Given the description of an element on the screen output the (x, y) to click on. 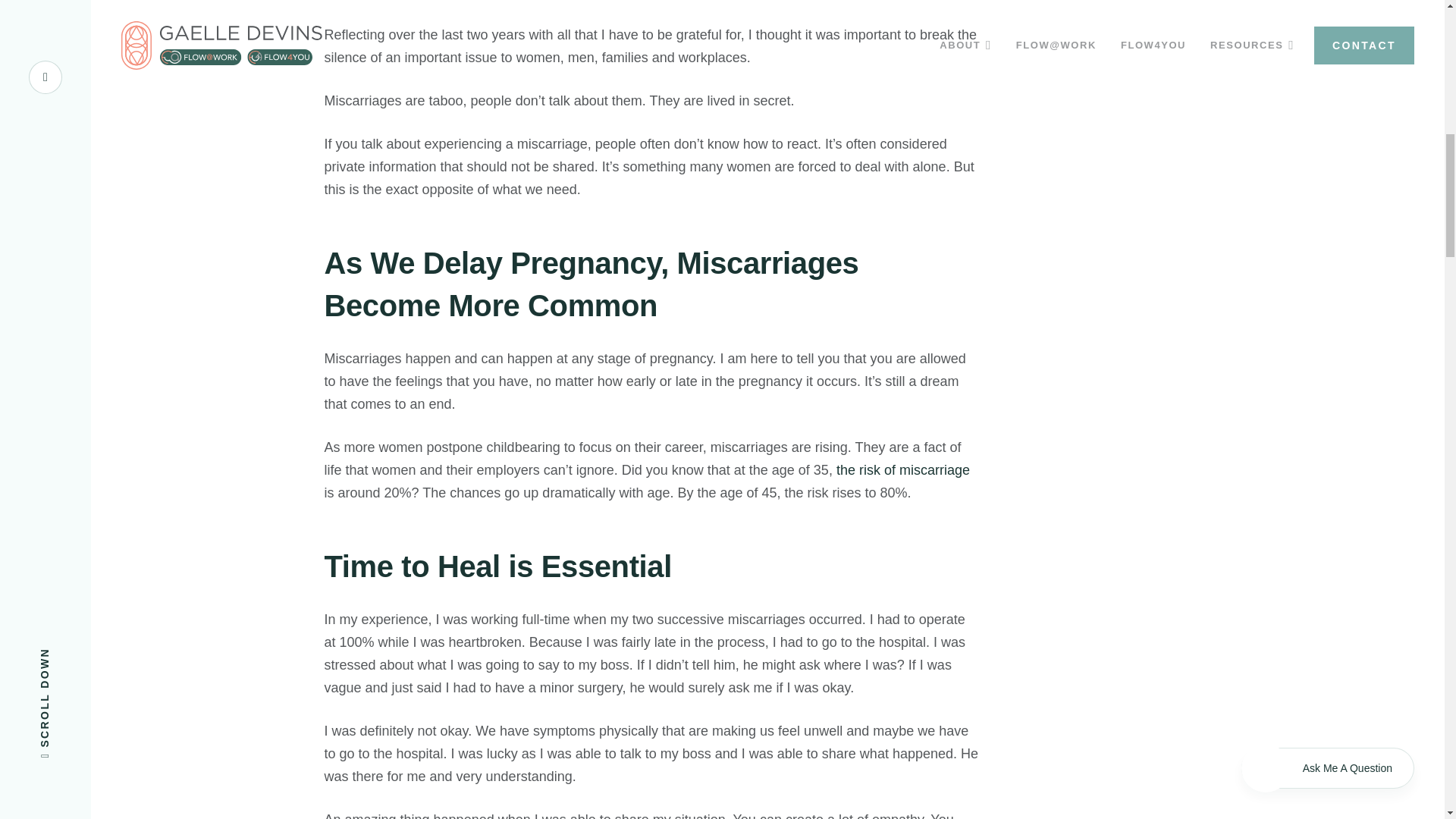
the risk of miscarriage (902, 469)
